Given the description of an element on the screen output the (x, y) to click on. 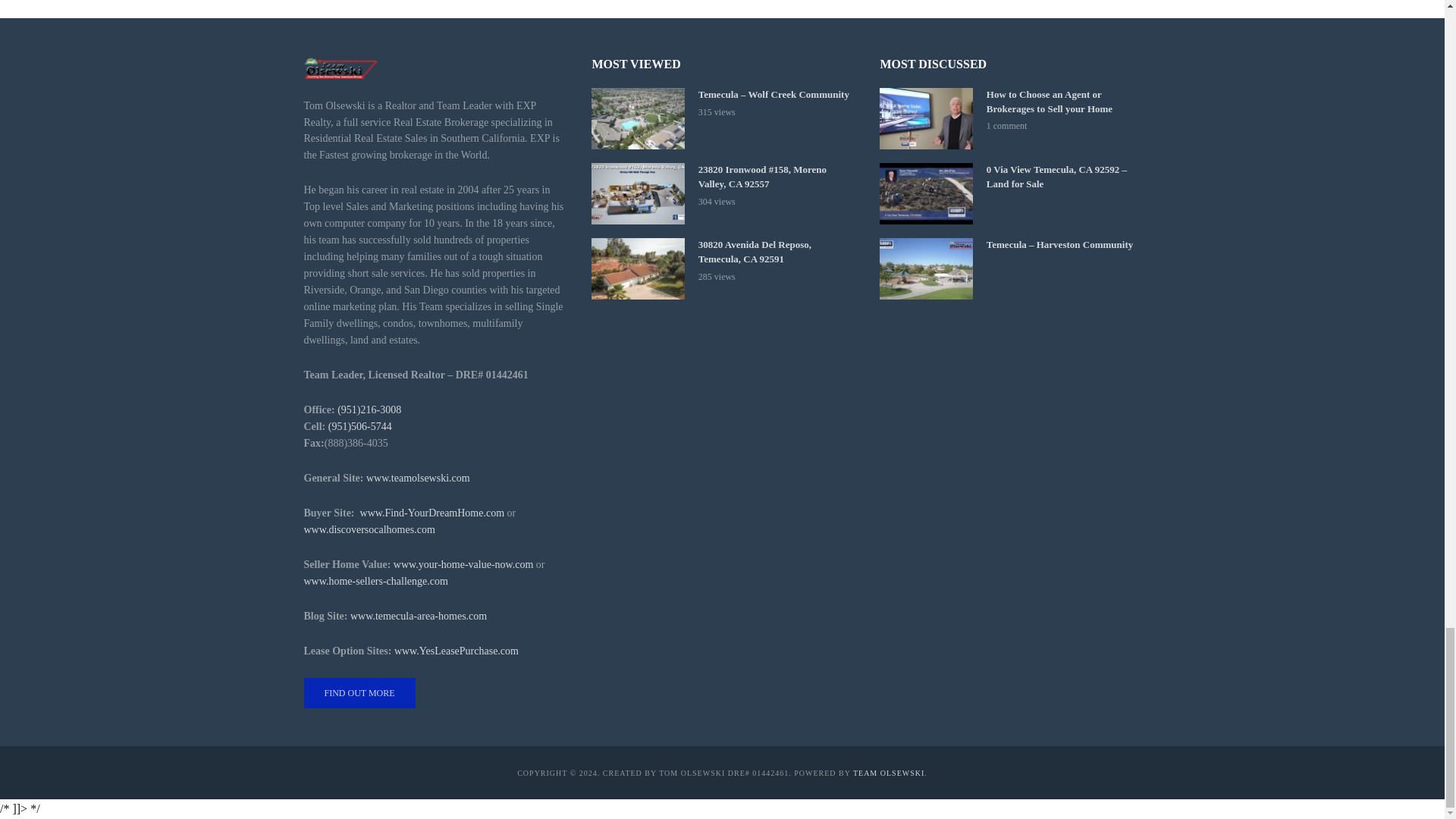
30820 Avenida Del Reposo, Temecula, CA 92591 (637, 268)
How to Choose an Agent or Brokerages to Sell your Home (925, 118)
